Given the description of an element on the screen output the (x, y) to click on. 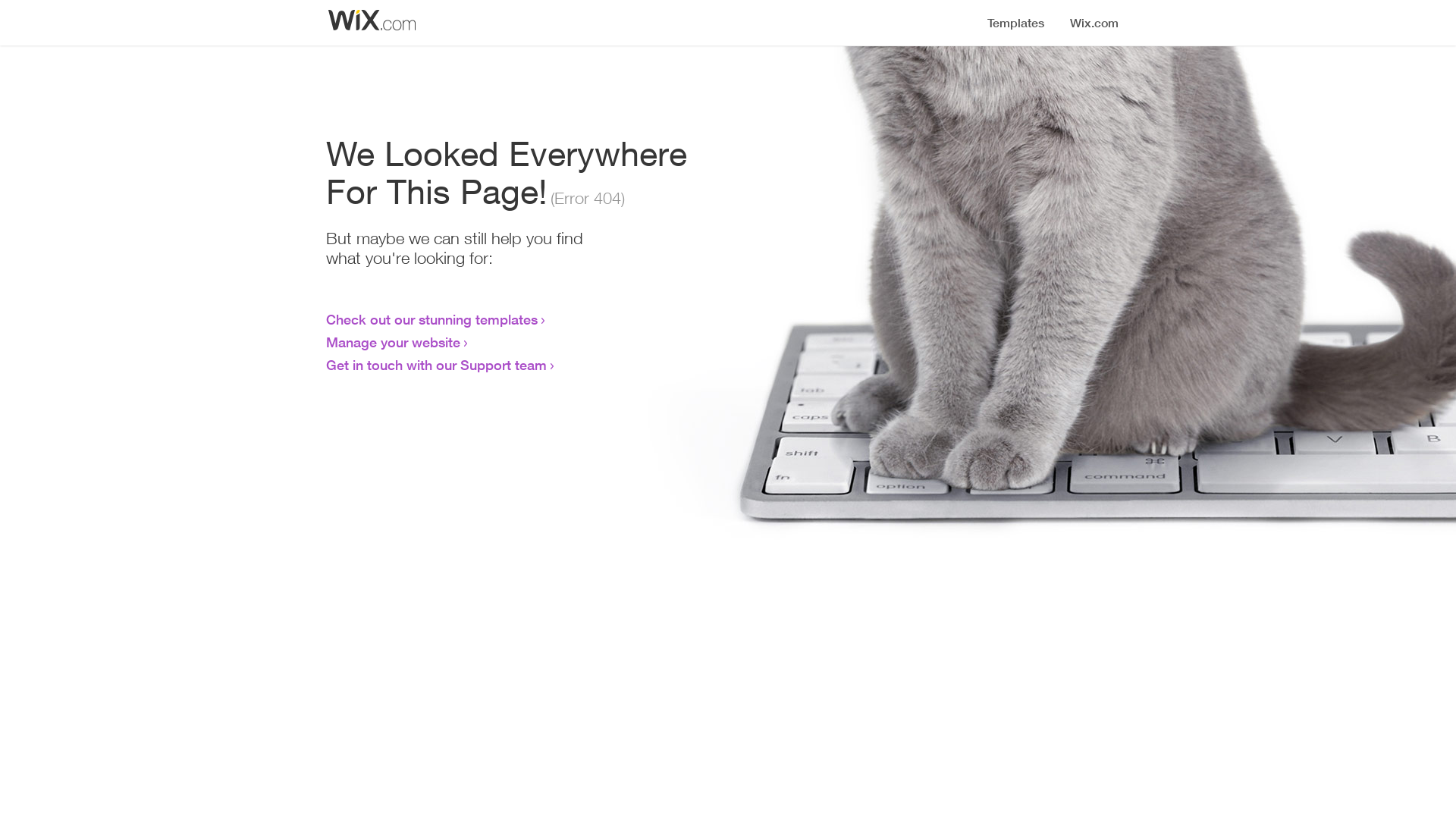
Manage your website Element type: text (393, 341)
Check out our stunning templates Element type: text (431, 318)
Get in touch with our Support team Element type: text (436, 364)
